Given the description of an element on the screen output the (x, y) to click on. 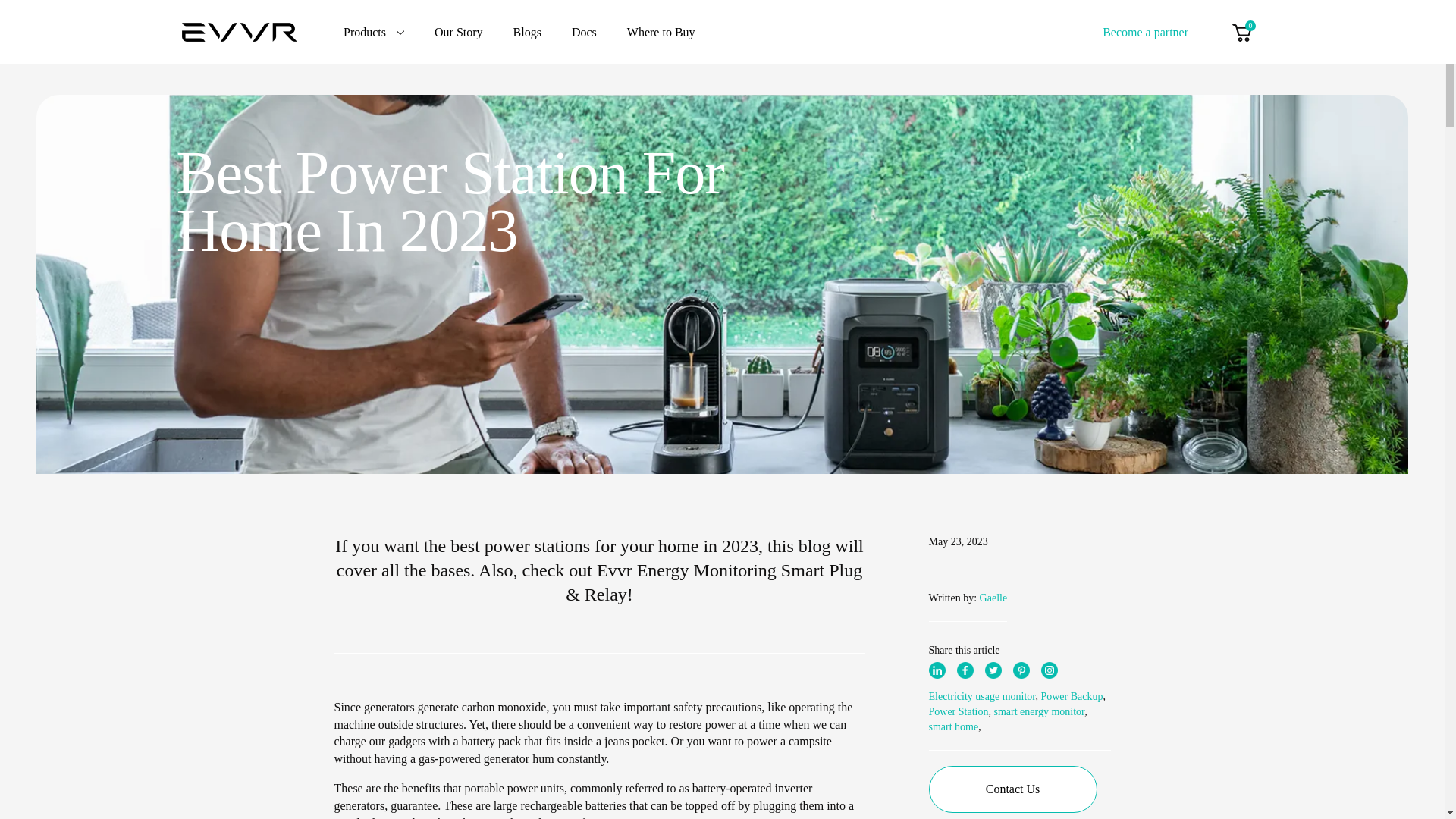
Blogs (527, 31)
0 (1240, 31)
Docs (584, 31)
Our Story (458, 31)
Where to Buy (661, 31)
Become a partner (1144, 31)
Products (373, 31)
